Given the description of an element on the screen output the (x, y) to click on. 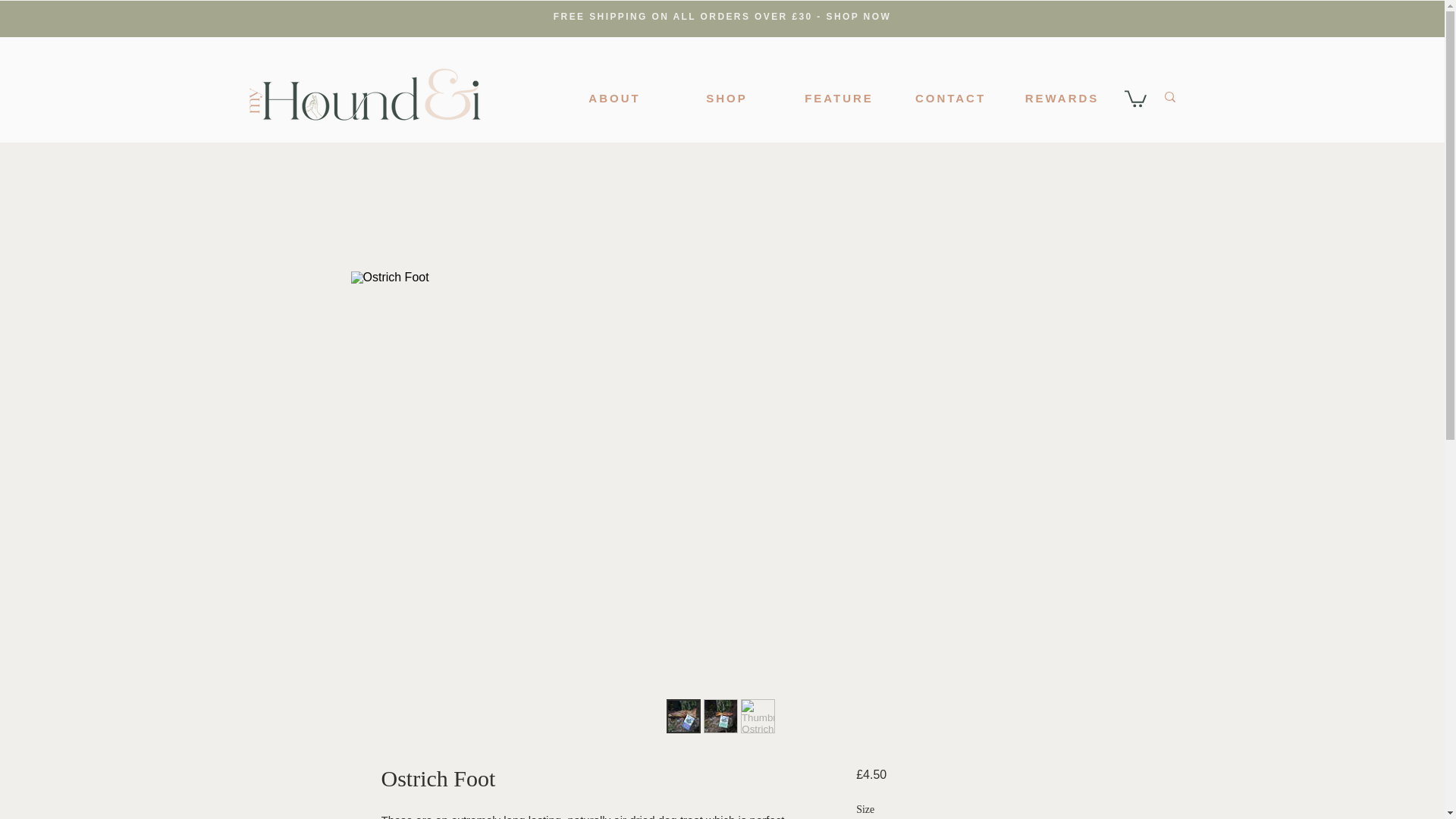
SHOP (726, 97)
ABOUT (614, 97)
REWARDS (1062, 97)
CONTACT (950, 97)
FEATURE (839, 97)
